Given the description of an element on the screen output the (x, y) to click on. 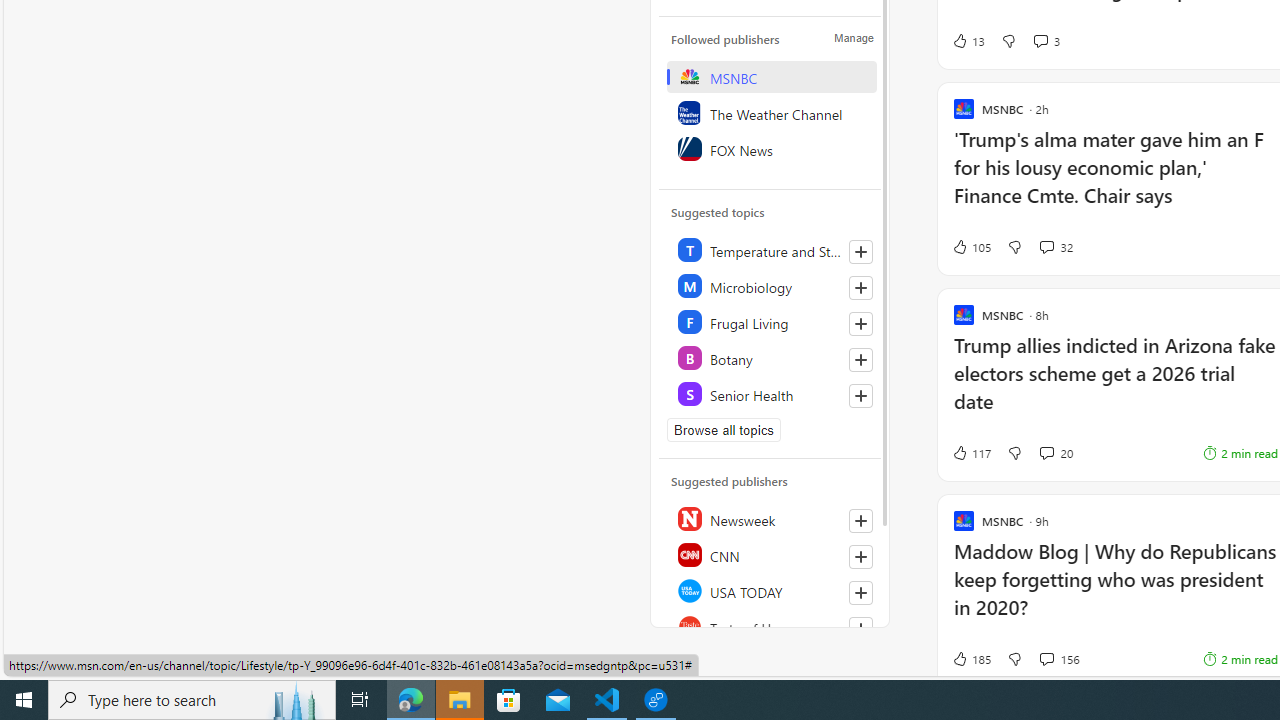
USA TODAY (771, 590)
